Given the description of an element on the screen output the (x, y) to click on. 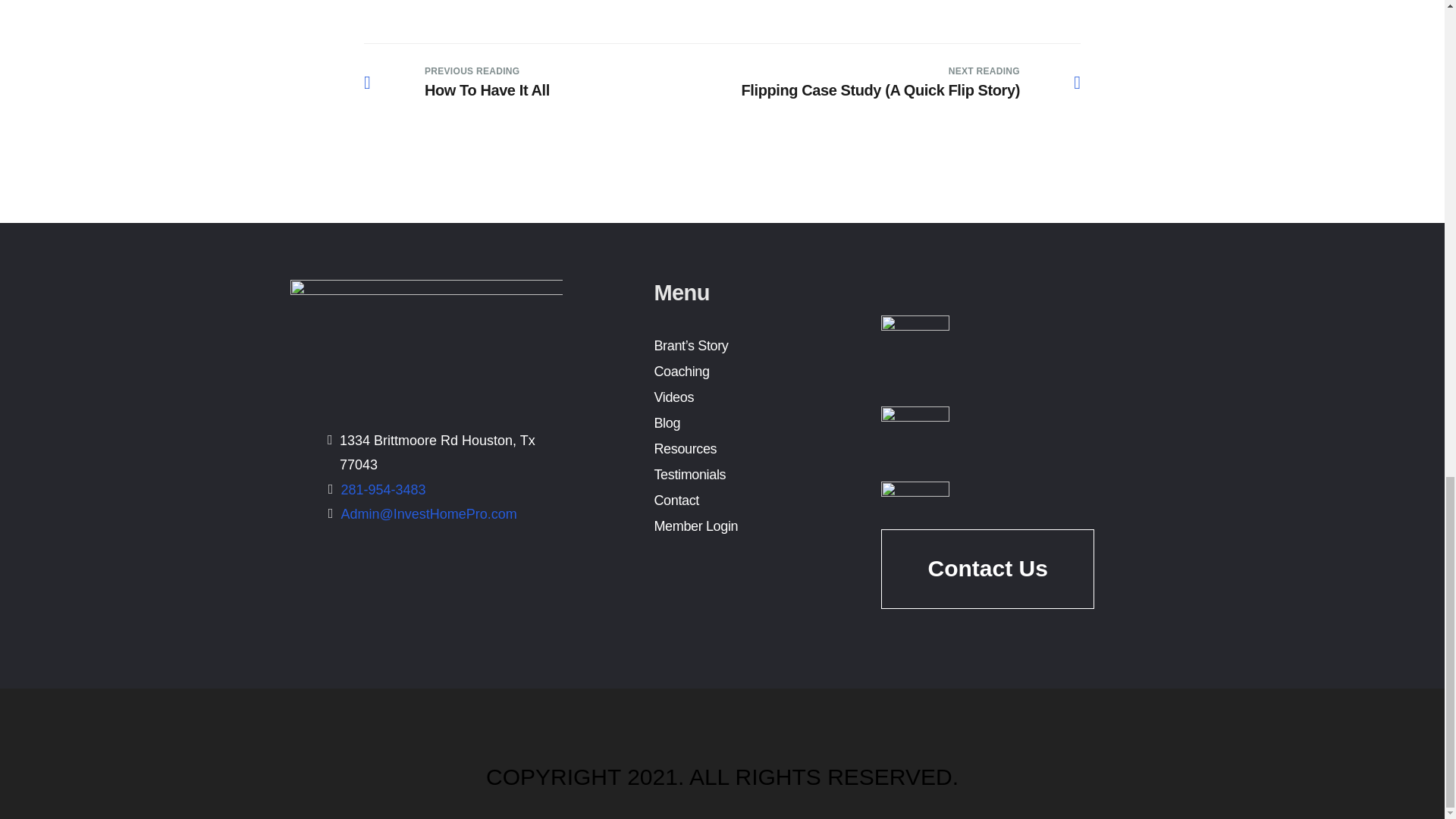
Coaching (457, 81)
281-954-3483 (681, 371)
